Given the description of an element on the screen output the (x, y) to click on. 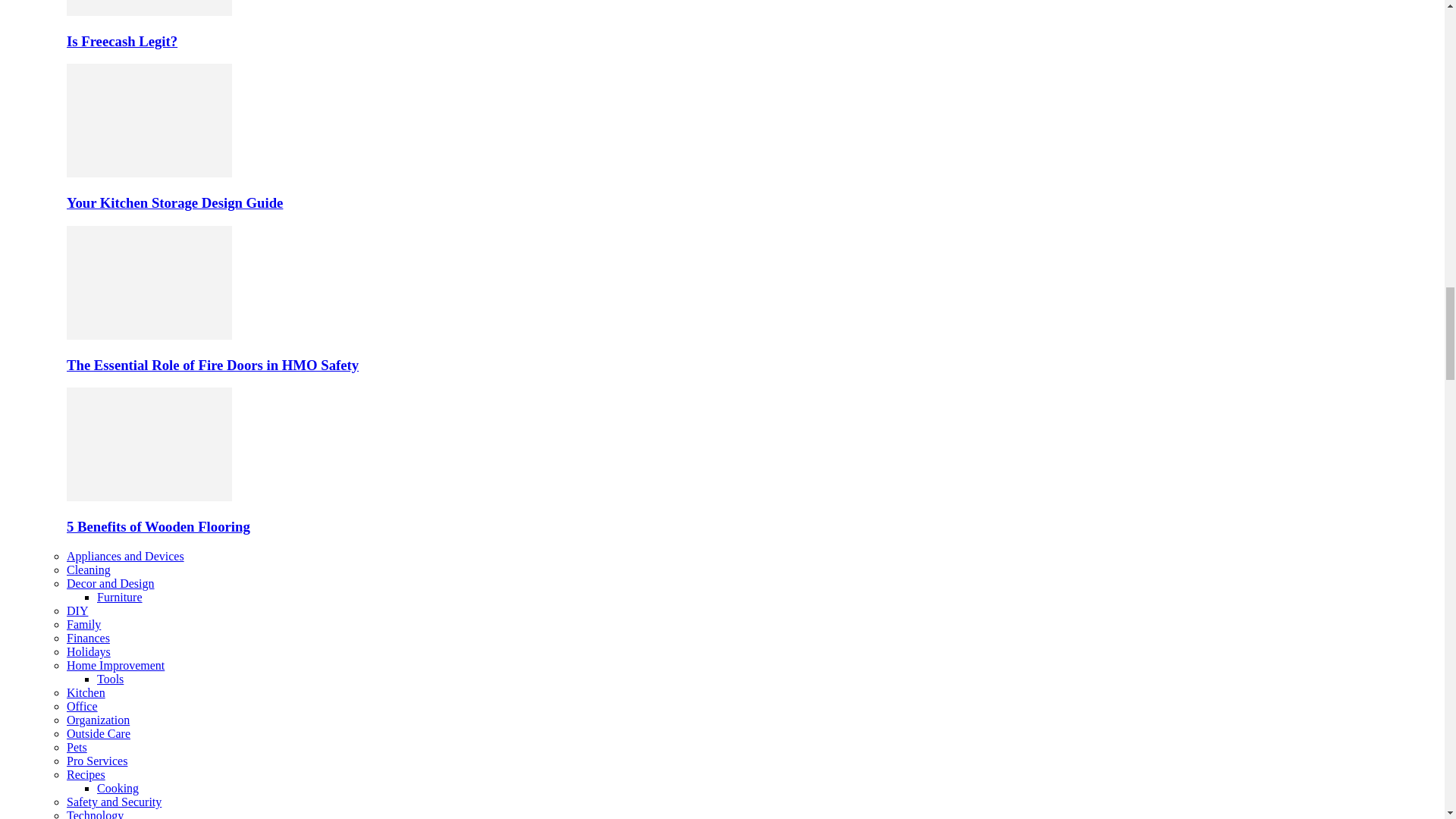
The Essential Role of Fire Doors in HMO Safety (212, 365)
Your Kitchen Storage Design Guide (148, 120)
The Essential Role of Fire Doors in HMO Safety (148, 335)
5 Benefits of Wooden Flooring (158, 526)
5 Benefits of Wooden Flooring (148, 444)
Is Freecash Legit? (148, 11)
Your Kitchen Storage Design Guide (174, 202)
Is Freecash Legit? (148, 7)
5 Benefits of Wooden Flooring (148, 496)
The Essential Role of Fire Doors in HMO Safety (148, 282)
Is Freecash Legit? (121, 41)
Your Kitchen Storage Design Guide (148, 173)
